Given the description of an element on the screen output the (x, y) to click on. 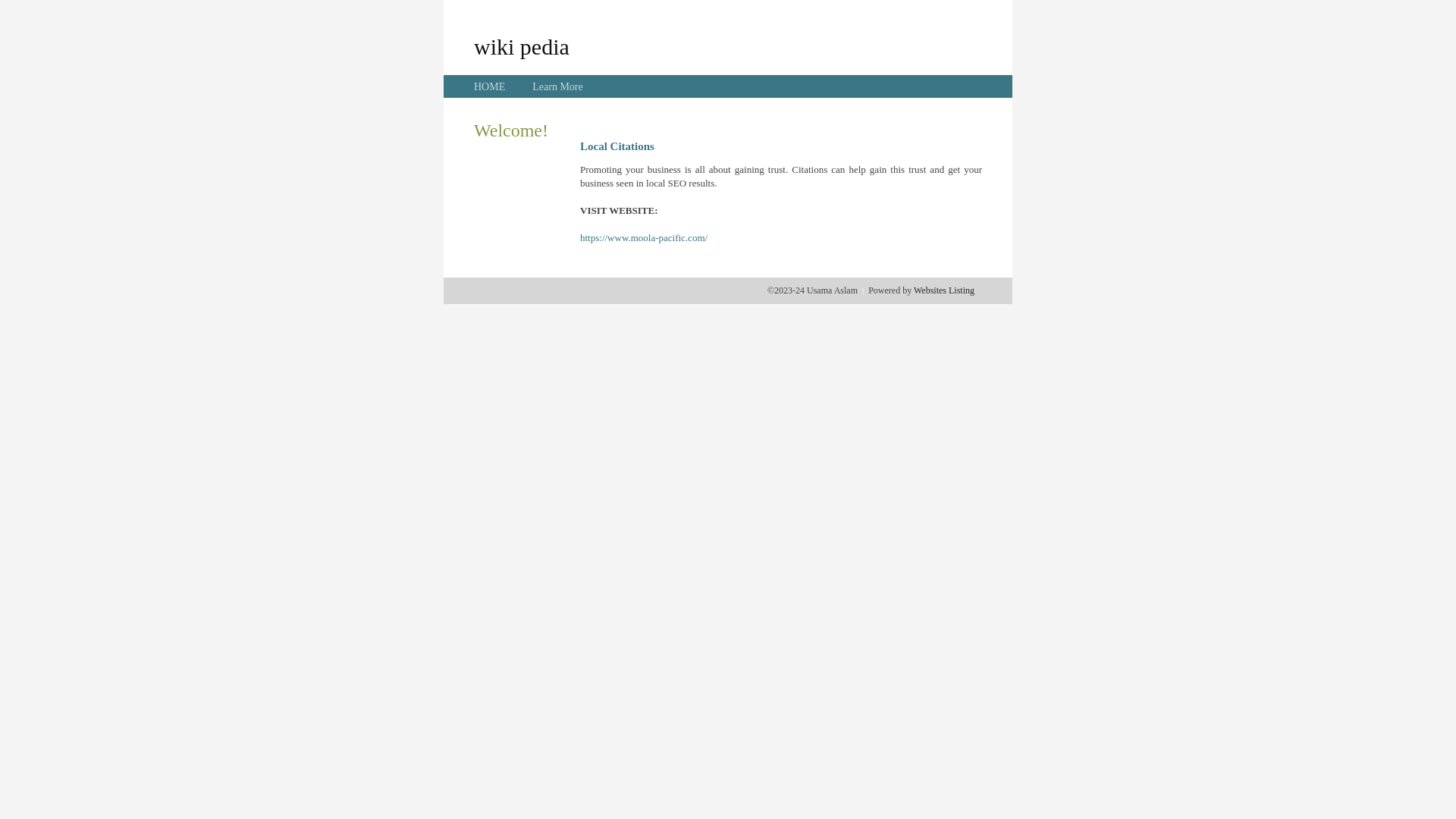
HOME Element type: text (489, 86)
https://www.moola-pacific.com/ Element type: text (643, 237)
wiki pedia Element type: text (521, 46)
Learn More Element type: text (557, 86)
Websites Listing Element type: text (943, 290)
